Given the description of an element on the screen output the (x, y) to click on. 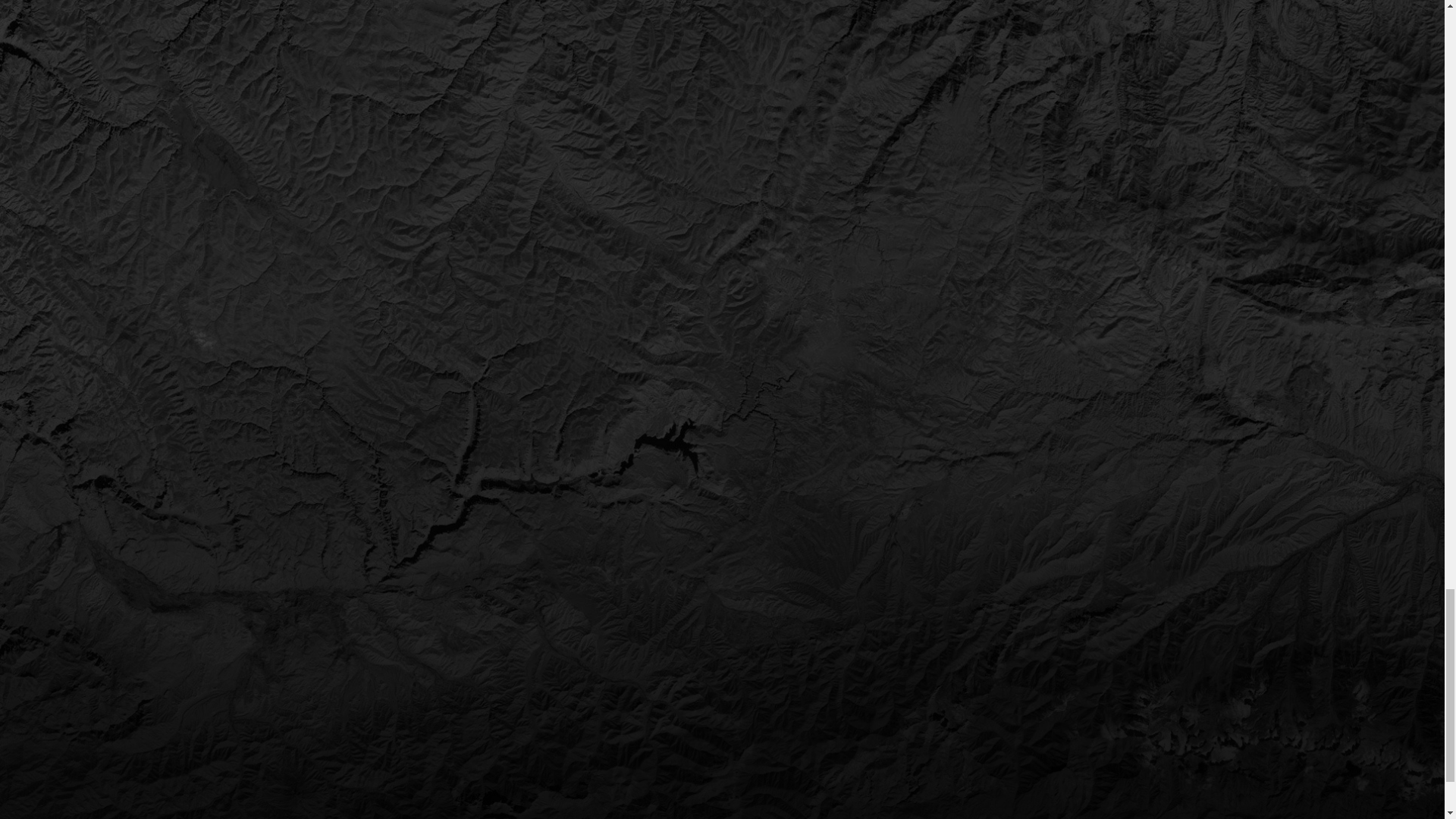
Submit (1101, 240)
